Given the description of an element on the screen output the (x, y) to click on. 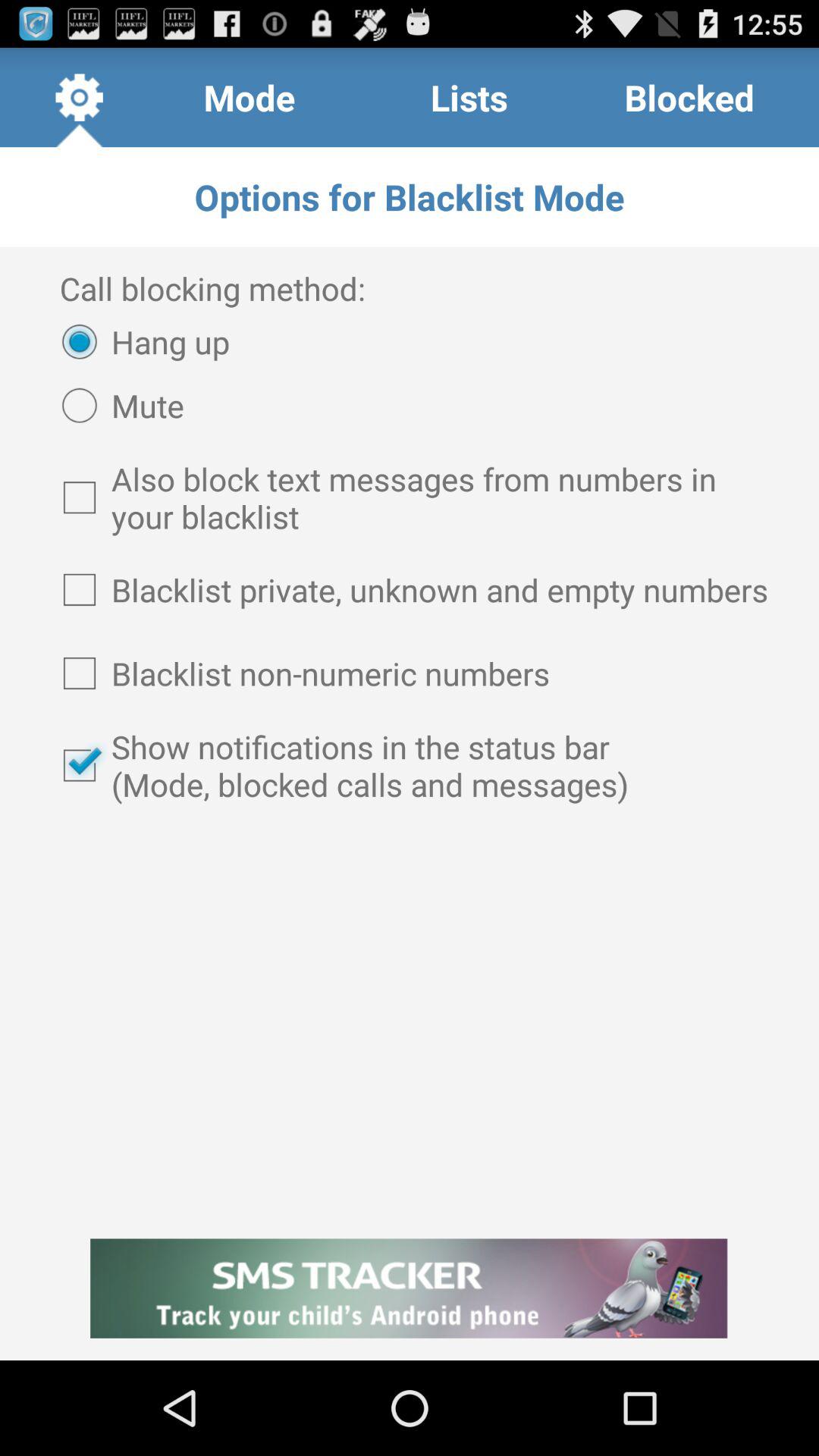
scroll to mute icon (115, 405)
